Given the description of an element on the screen output the (x, y) to click on. 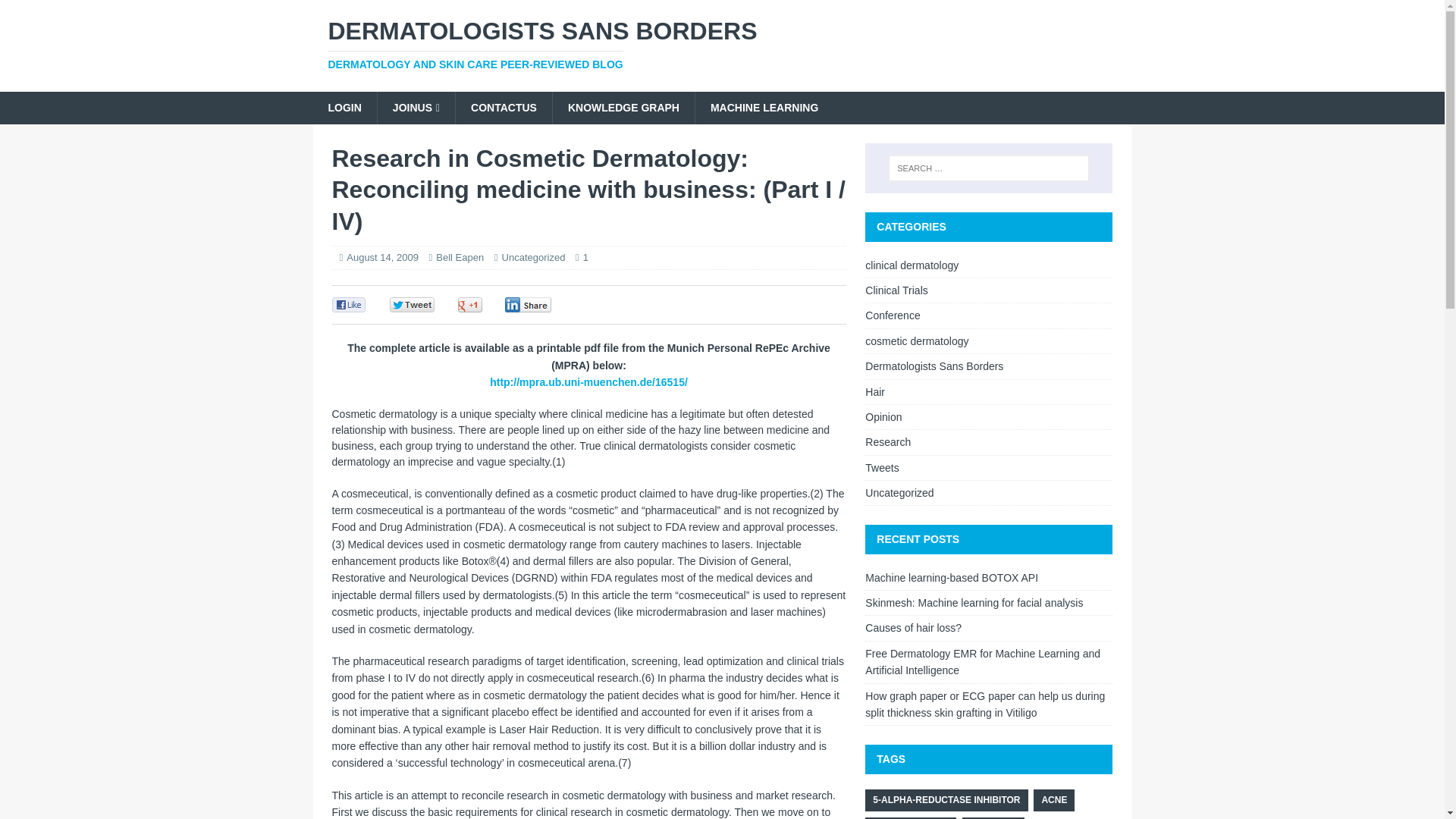
LOGIN (344, 107)
August 14, 2009 (382, 256)
Bell Eapen (459, 256)
Uncategorized (534, 256)
JOINUS (415, 107)
MACHINE LEARNING (763, 107)
Be the first one to tweet this article! (427, 304)
KNOWLEDGE GRAPH (622, 107)
Dermatologists Sans Borders (721, 44)
